Given the description of an element on the screen output the (x, y) to click on. 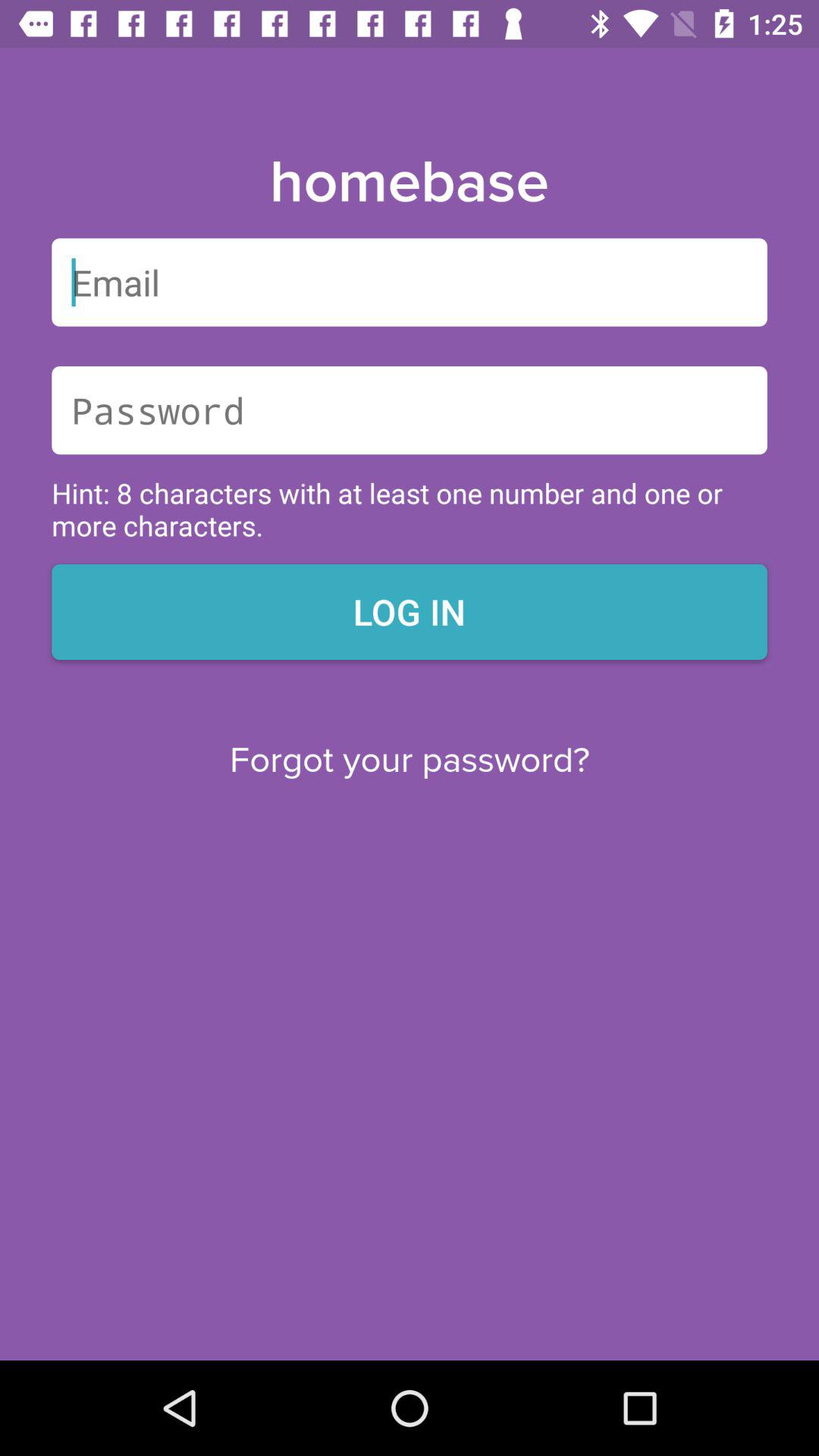
scroll until log in item (409, 611)
